Given the description of an element on the screen output the (x, y) to click on. 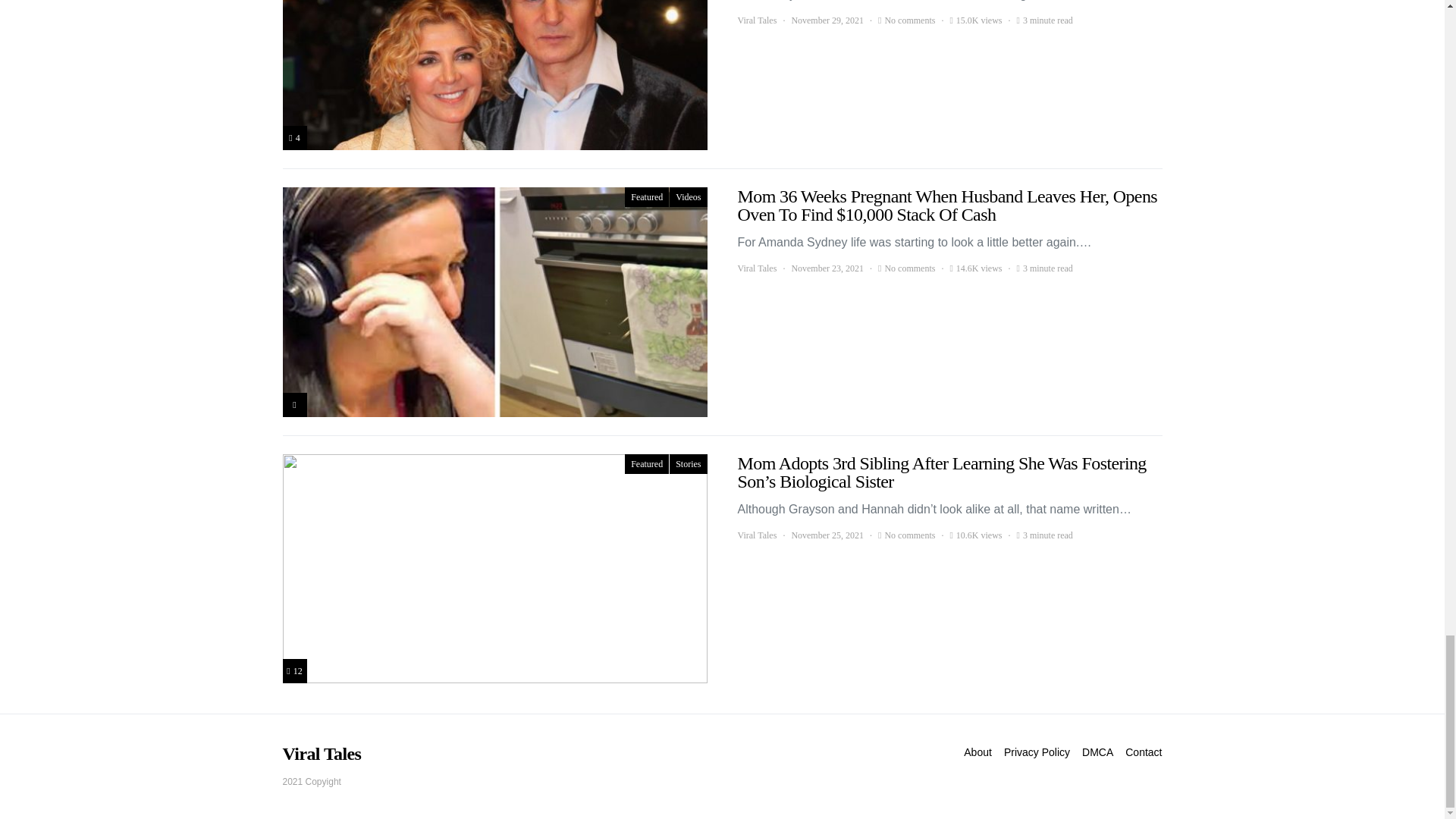
4 (293, 137)
No comments (908, 20)
Viral Tales (756, 268)
Stories (687, 464)
Videos (687, 197)
Featured (646, 464)
View all posts by Viral Tales (756, 20)
Viral Tales (756, 20)
View all posts by Viral Tales (756, 535)
View all posts by Viral Tales (756, 268)
